Given the description of an element on the screen output the (x, y) to click on. 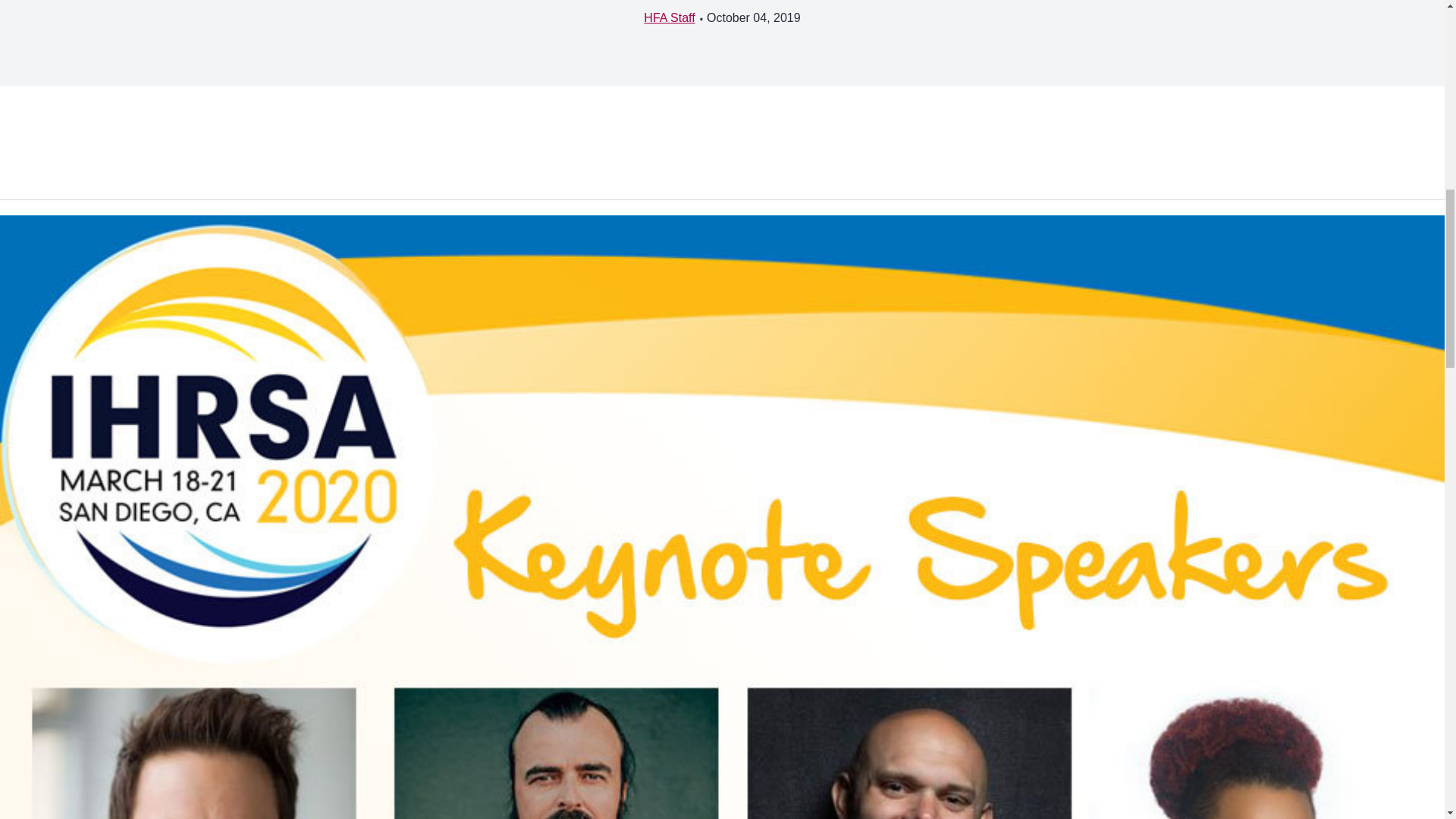
3rd party ad content (367, 142)
